Given the description of an element on the screen output the (x, y) to click on. 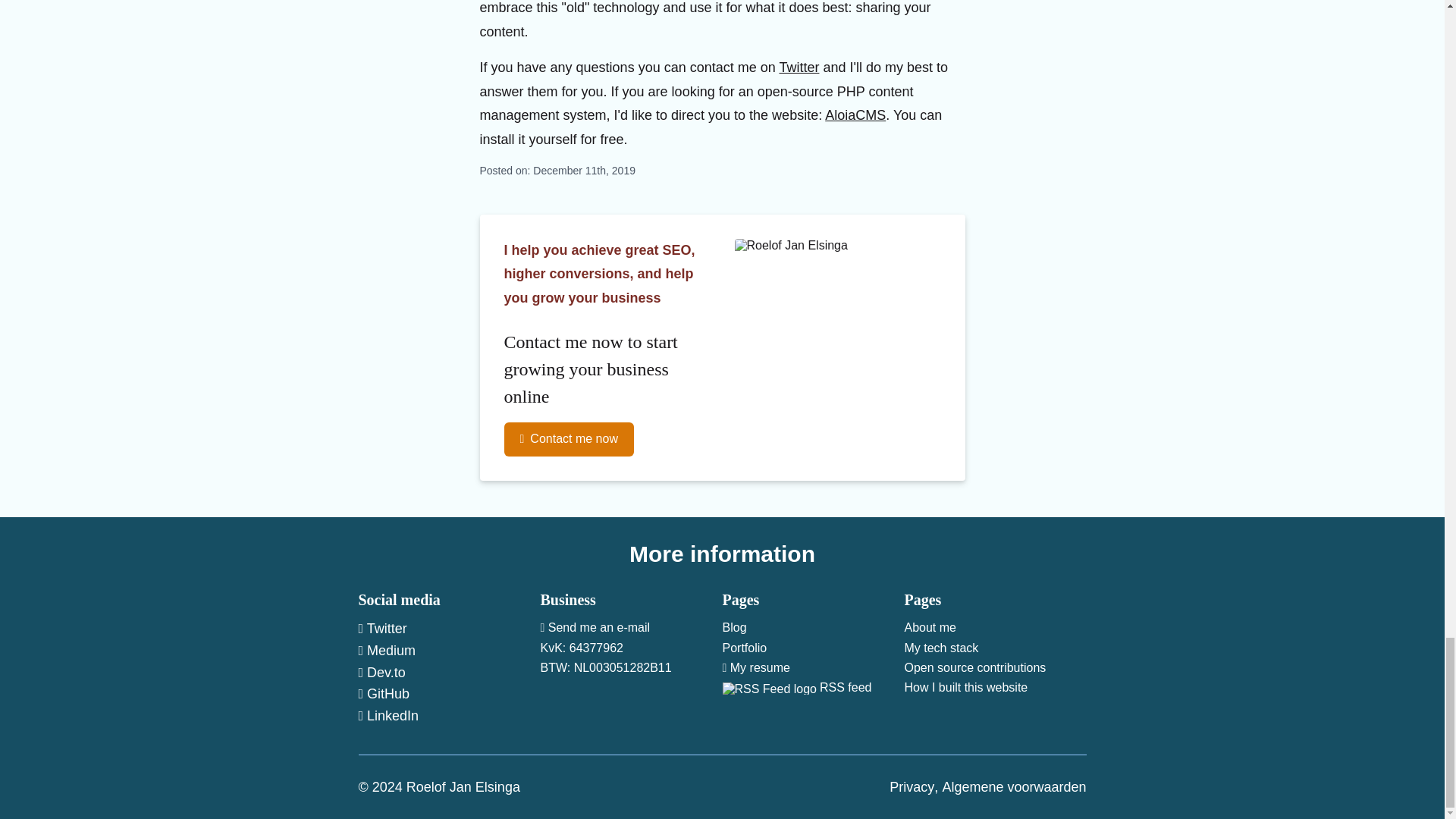
Medium (386, 650)
My resume (755, 667)
GitHub (383, 693)
About me (929, 626)
How I built this website (965, 686)
RSS feed (813, 687)
Open source contributions (974, 667)
LinkedIn (388, 715)
Dev.to (381, 672)
Contact me now (568, 438)
